Given the description of an element on the screen output the (x, y) to click on. 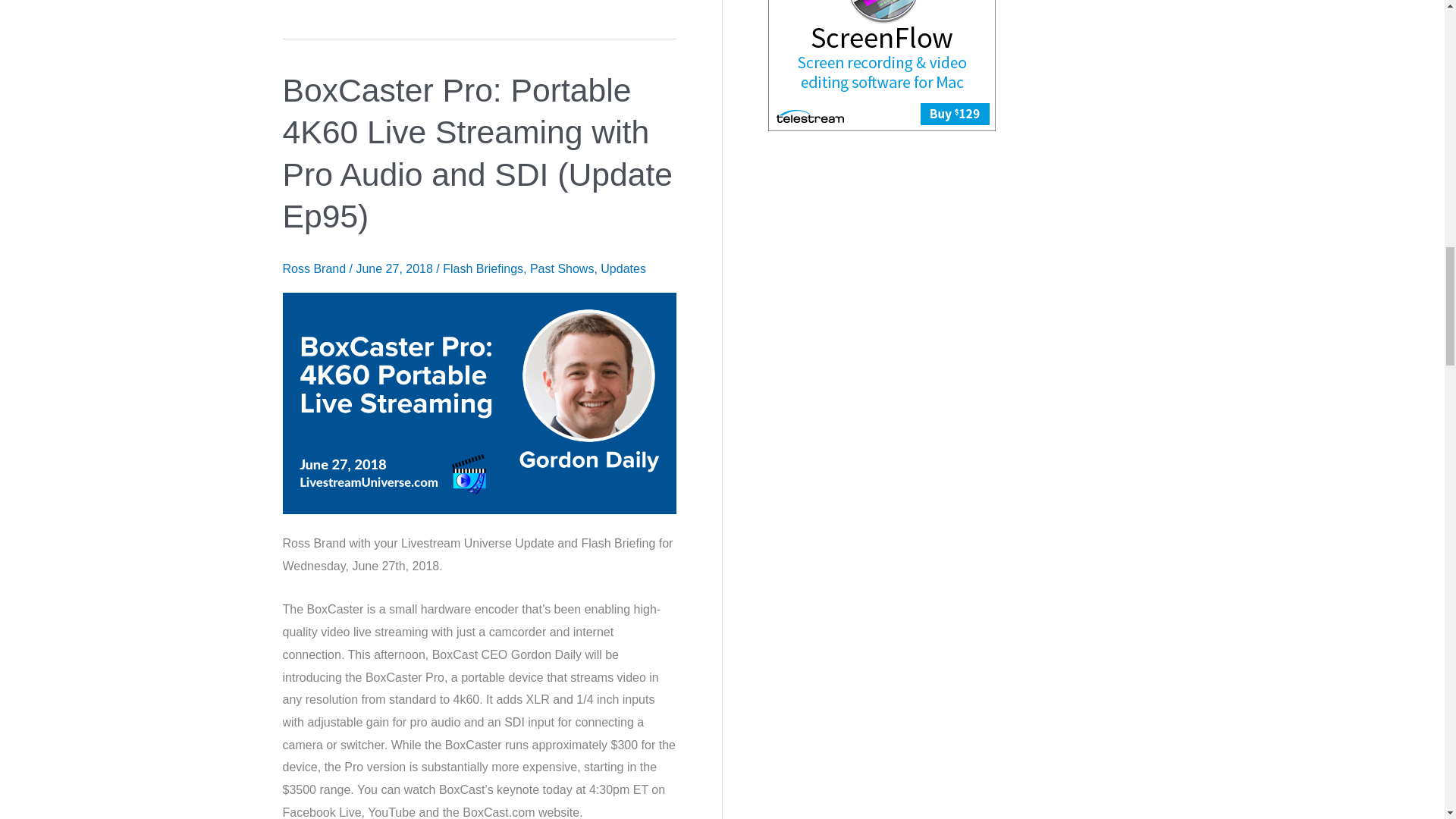
View all posts by Ross Brand (315, 268)
